Given the description of an element on the screen output the (x, y) to click on. 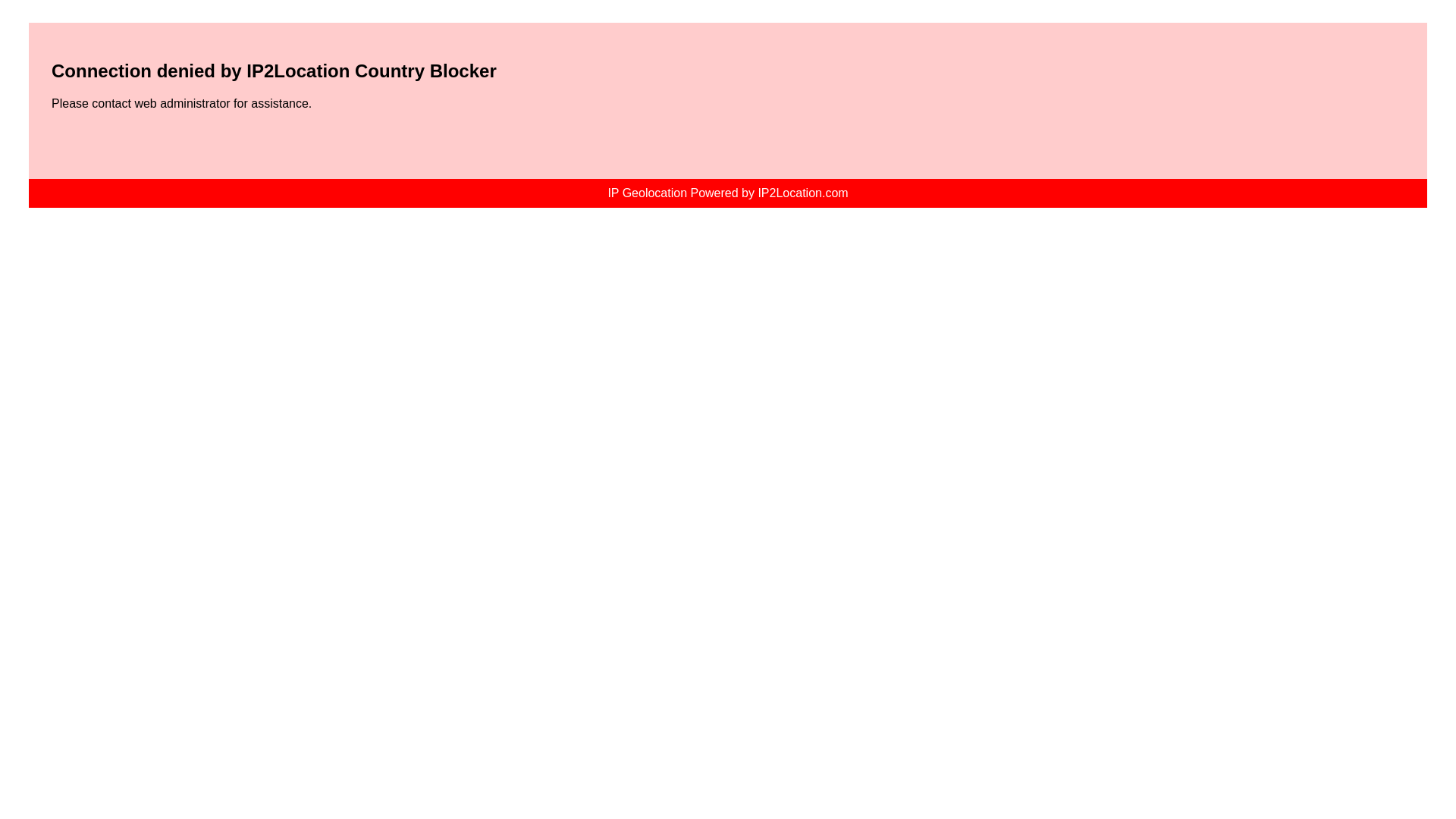
IP Geolocation Powered by IP2Location.com (727, 192)
